Given the description of an element on the screen output the (x, y) to click on. 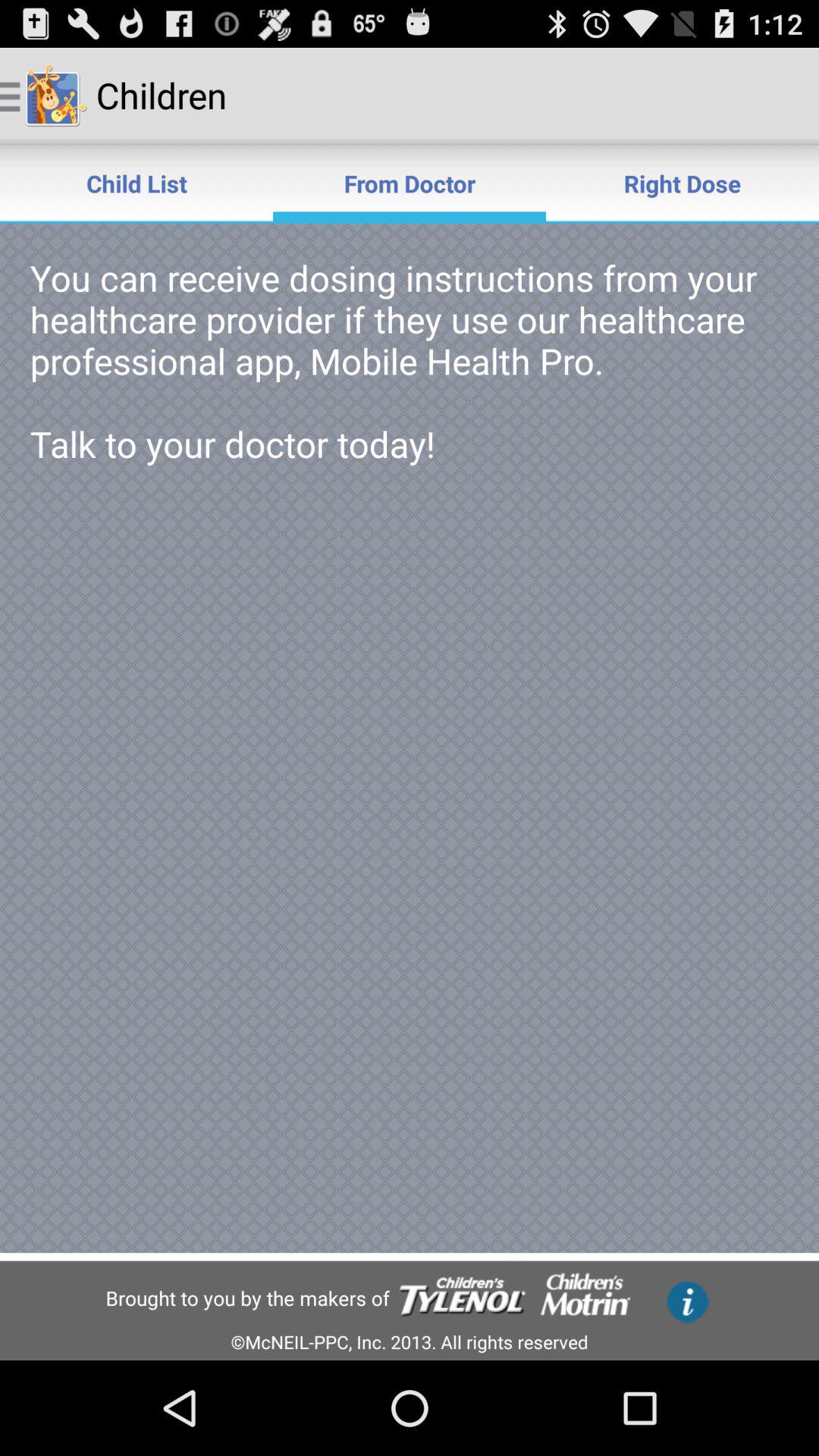
tap the item to the left of from doctor (136, 183)
